Given the description of an element on the screen output the (x, y) to click on. 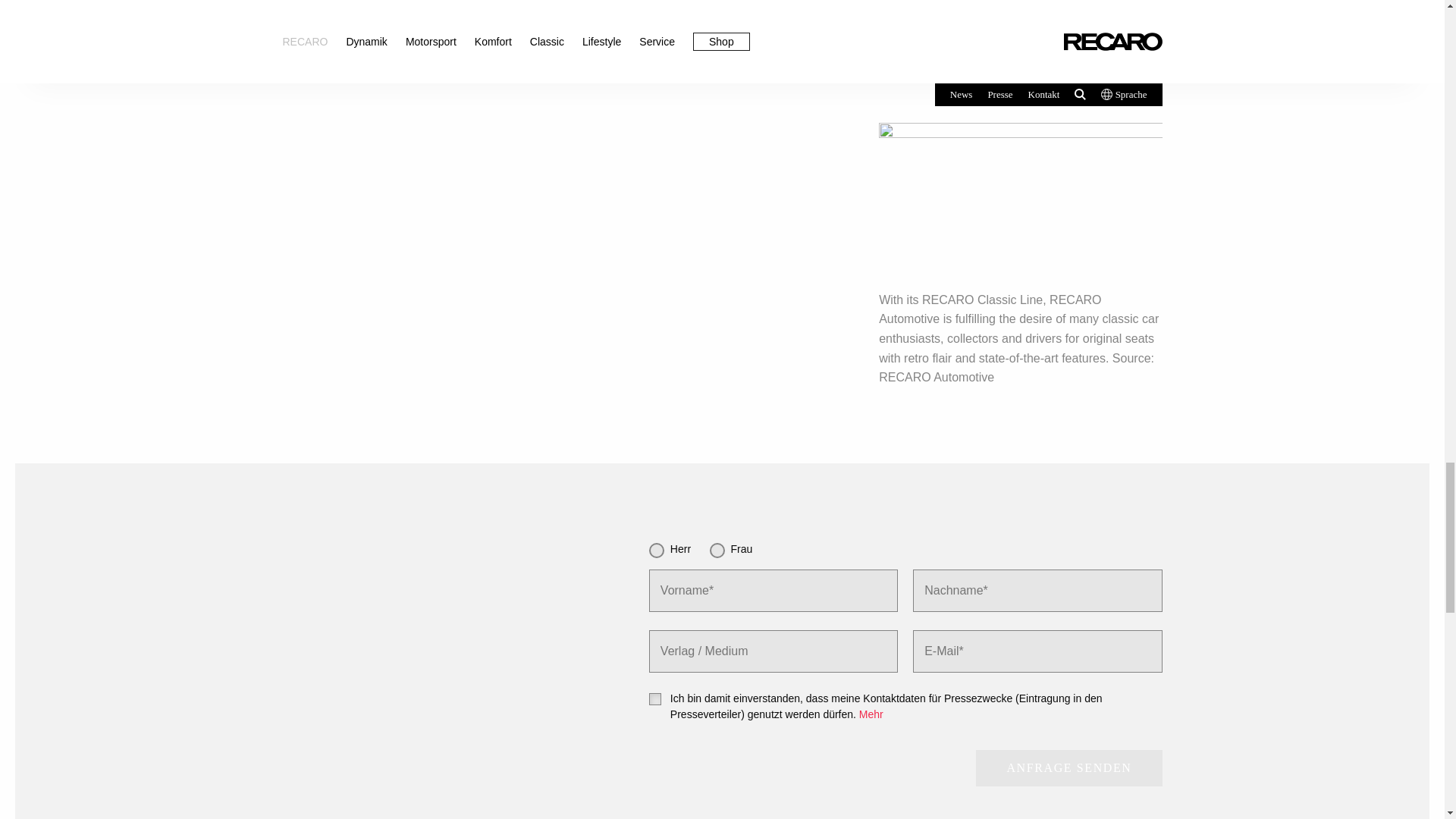
Herr (656, 549)
Anfrage senden (1068, 768)
1 (655, 698)
Frau (717, 549)
